Given the description of an element on the screen output the (x, y) to click on. 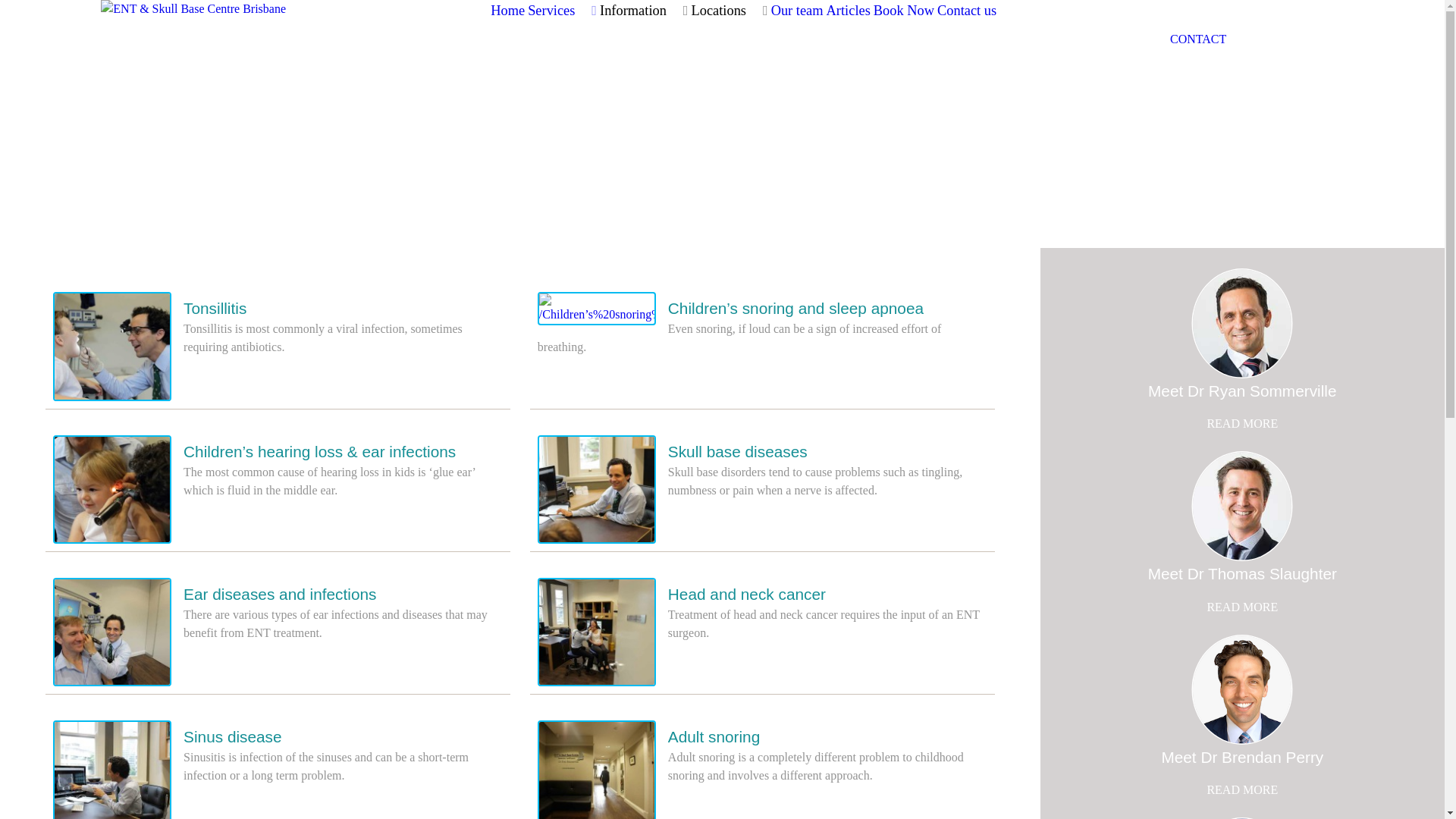
ENT & Skull Base Centre Brisbane Element type: hover (192, 41)
READ MORE Element type: text (1241, 606)
Meet Dr Ryan Sommerville Element type: text (1242, 390)
Home Element type: text (507, 10)
Contact us Element type: text (966, 10)
Ear diseases and infections Element type: text (279, 593)
Adult snoring Element type: text (713, 736)
Head and neck cancer Element type: text (746, 593)
Sinus disease Element type: text (232, 736)
READ MORE Element type: text (1241, 423)
Tonsillitis Element type: text (214, 307)
READ MORE Element type: text (1241, 789)
CONTACT Element type: text (1198, 38)
Meet Dr Thomas Slaughter Element type: text (1242, 573)
Services Element type: text (561, 10)
Our team Element type: text (797, 10)
Skull base diseases Element type: text (737, 451)
Articles Element type: text (848, 10)
Meet Dr Brendan Perry Element type: text (1242, 756)
Book Now Element type: text (903, 10)
